Given the description of an element on the screen output the (x, y) to click on. 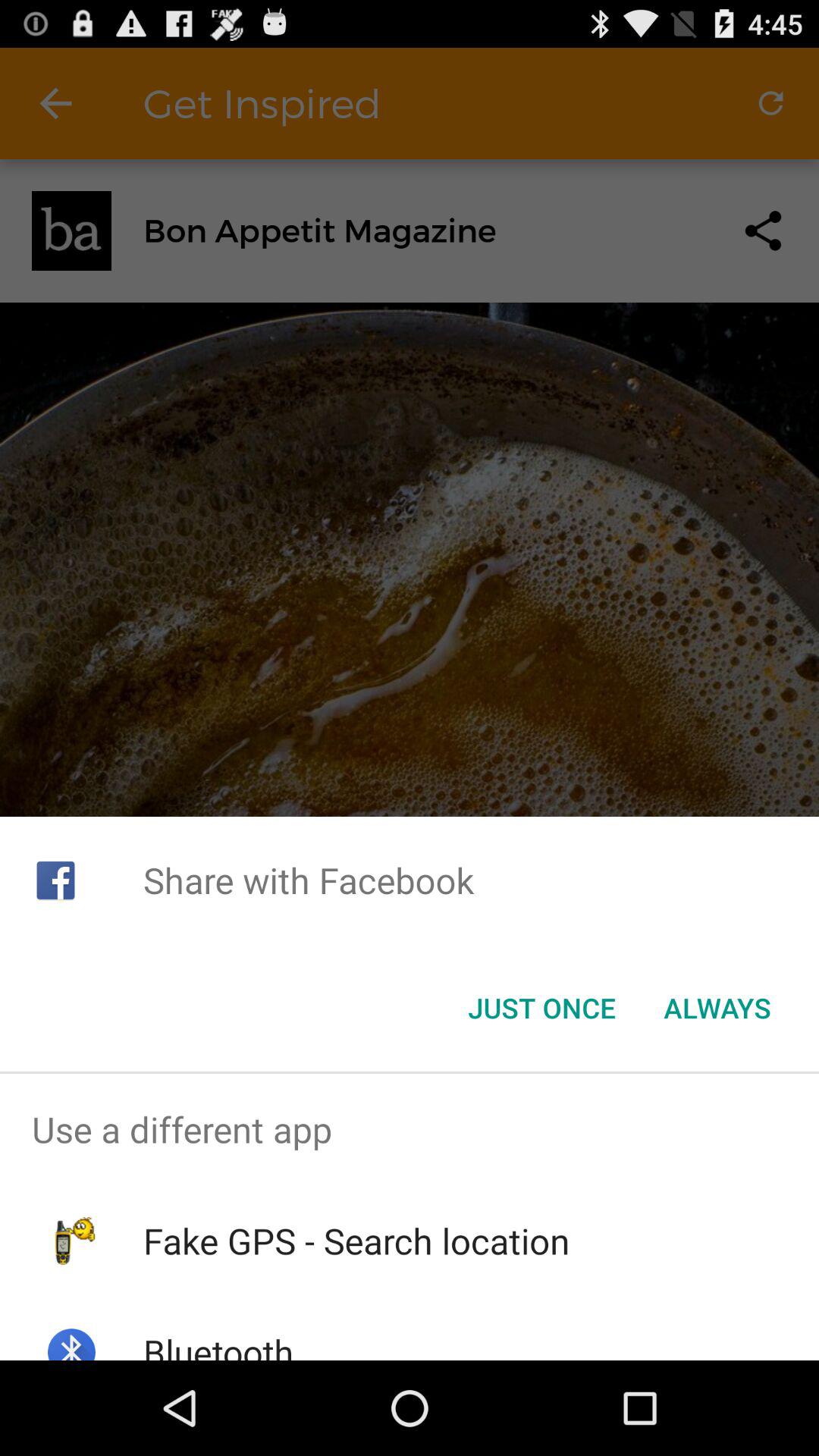
choose the icon below the share with facebook app (717, 1007)
